Given the description of an element on the screen output the (x, y) to click on. 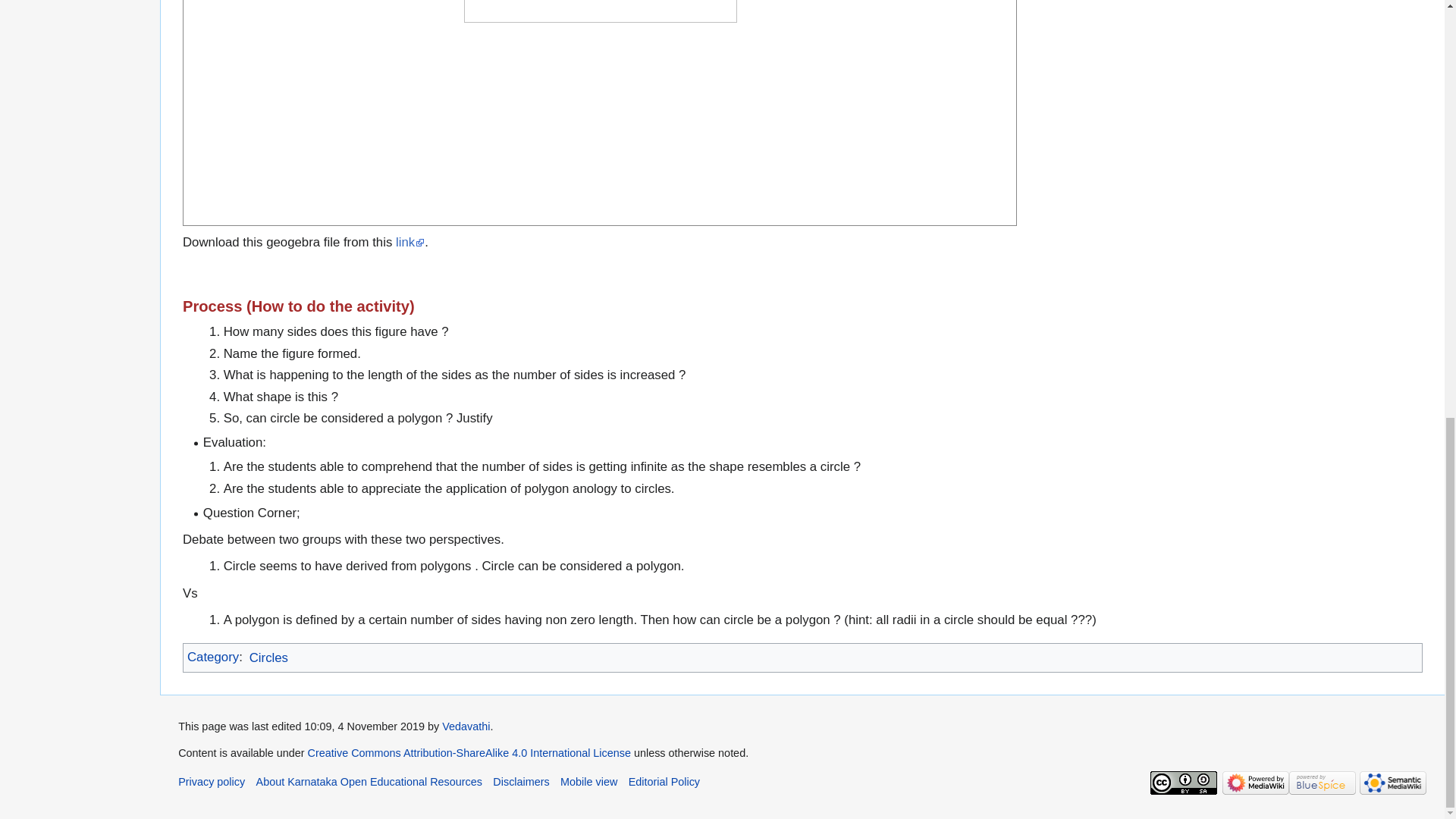
User:Vedavathi (465, 726)
Circles (268, 657)
Category:Circles (268, 657)
Category (212, 657)
Special:Categories (212, 657)
link (410, 242)
